Given the description of an element on the screen output the (x, y) to click on. 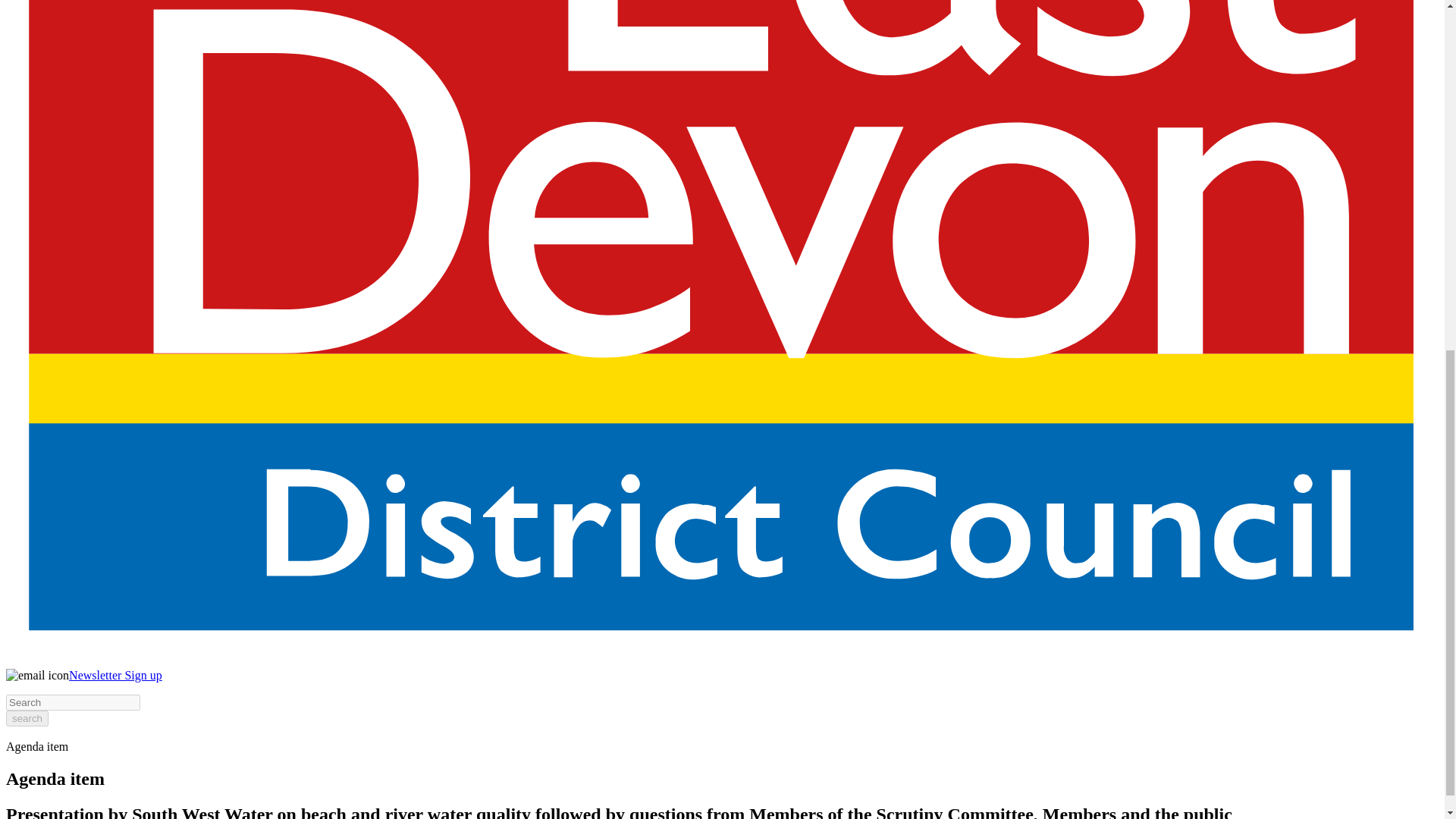
Newsletter Sign up (114, 675)
Search (72, 702)
search (26, 718)
